Given the description of an element on the screen output the (x, y) to click on. 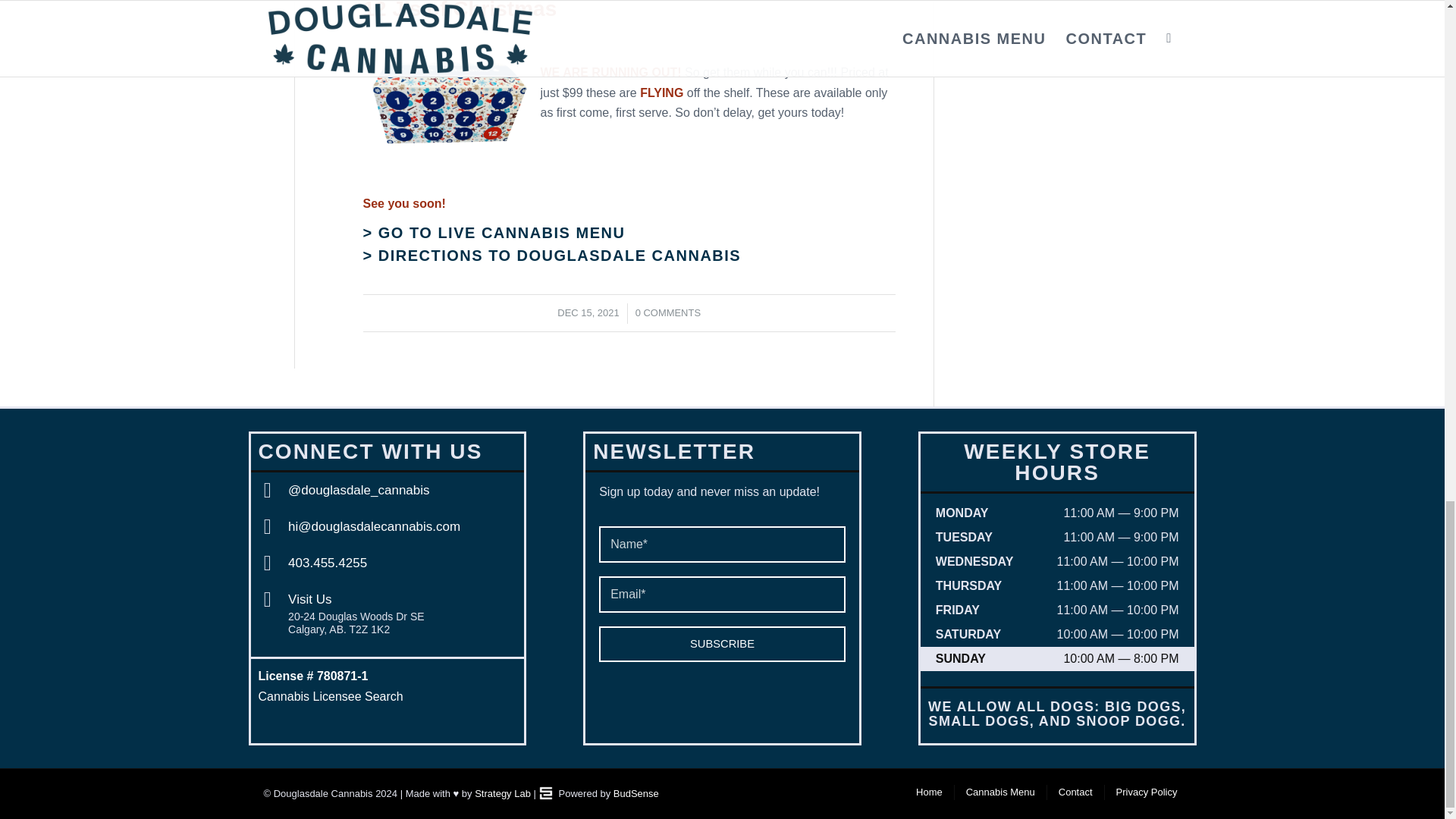
Subscribe (721, 643)
0 COMMENTS (667, 312)
